Given the description of an element on the screen output the (x, y) to click on. 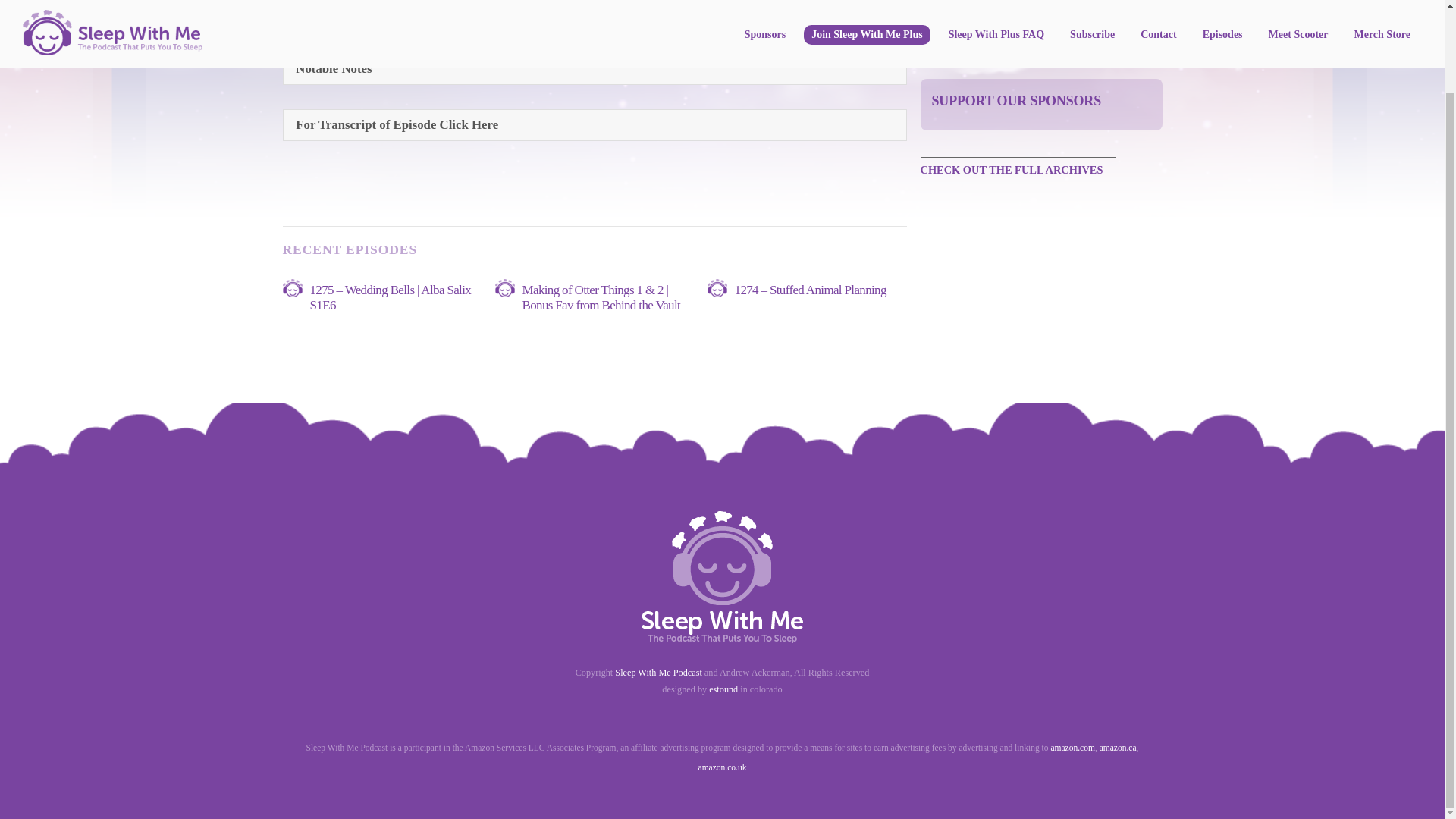
For Transcript of Episode Click Here (595, 124)
SUBSCRIBE USING YOUR FAVORITE APP (1040, 45)
amazon.com (1071, 747)
amazon.co.uk (722, 767)
Sleep With Me (722, 636)
Notable Notes (595, 68)
amazon.ca (1118, 747)
CHECK OUT THE FULL ARCHIVES (1018, 169)
Sleep With Me Podcast (657, 672)
estound (723, 688)
Sleep With Me (722, 577)
